Given the description of an element on the screen output the (x, y) to click on. 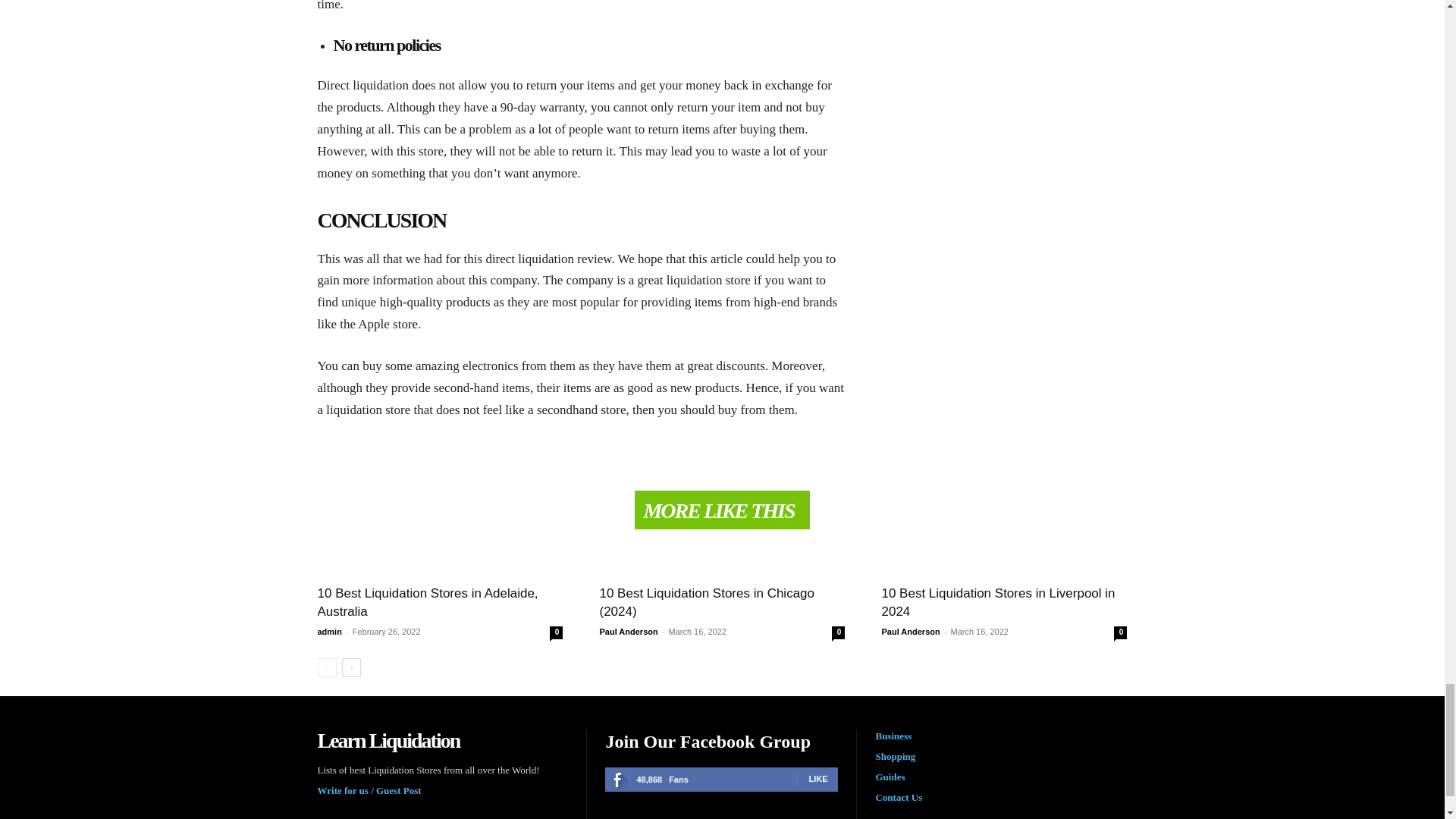
10 Best Liquidation Stores in Adelaide, Australia (427, 602)
